Given the description of an element on the screen output the (x, y) to click on. 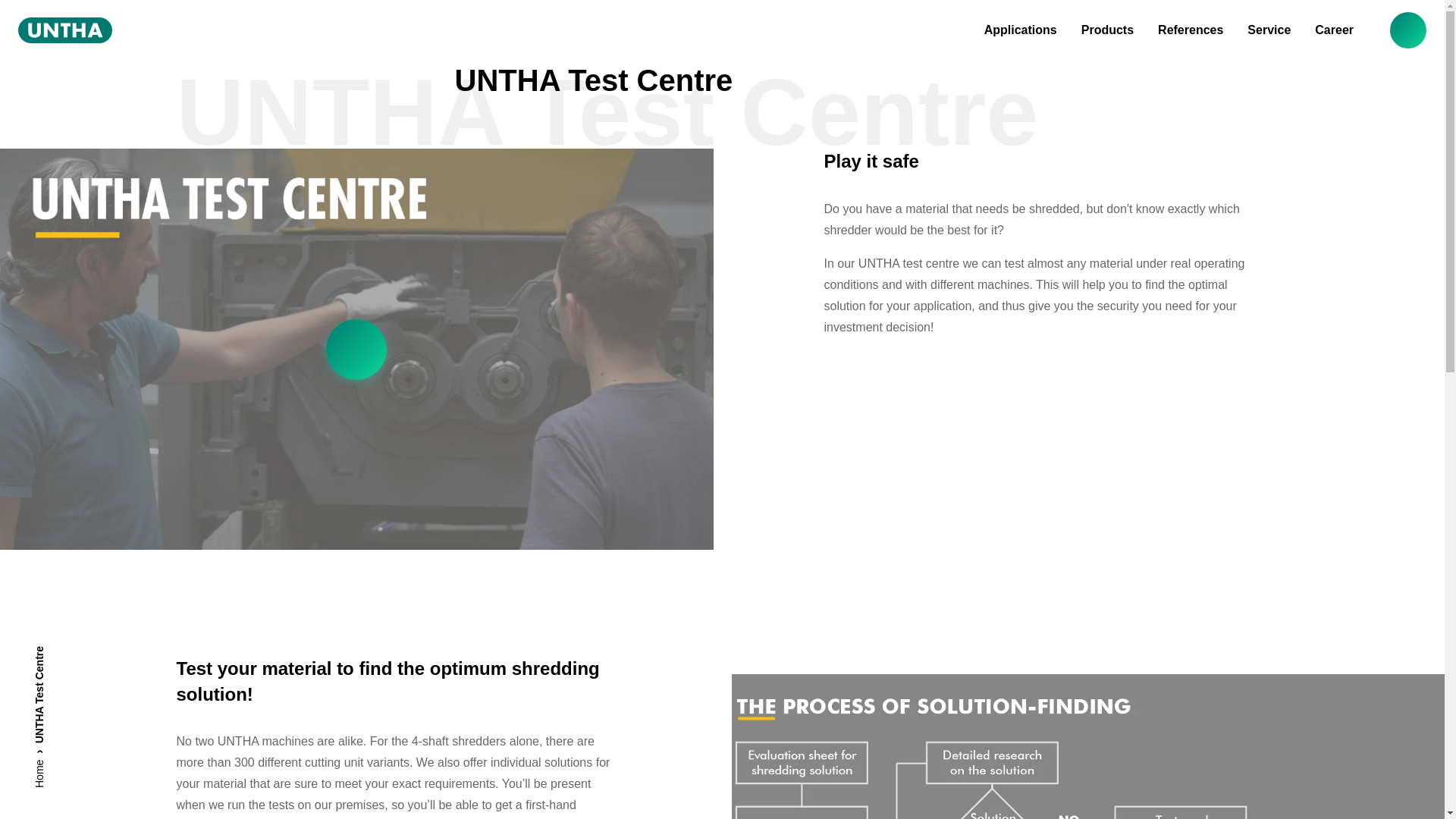
Applications (1020, 30)
References (1190, 30)
Products (1107, 30)
Service (1268, 30)
